Given the description of an element on the screen output the (x, y) to click on. 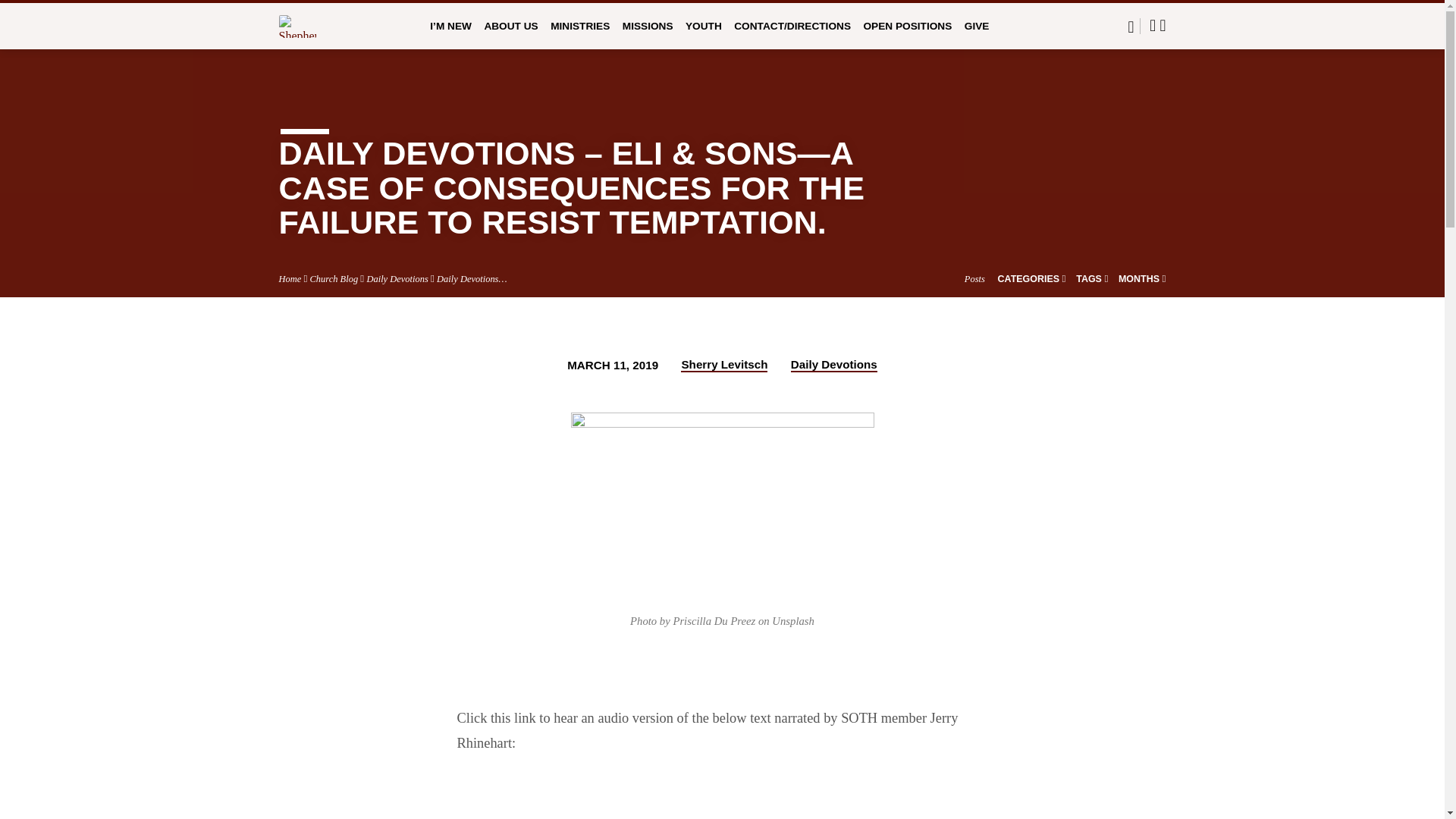
Daily Devotions (397, 278)
Church Blog (334, 278)
OPEN POSITIONS (907, 35)
CATEGORIES (1031, 278)
MISSIONS (647, 35)
Home (290, 278)
MINISTRIES (580, 35)
YOUTH (703, 35)
ABOUT US (510, 35)
Posts (974, 278)
